Given the description of an element on the screen output the (x, y) to click on. 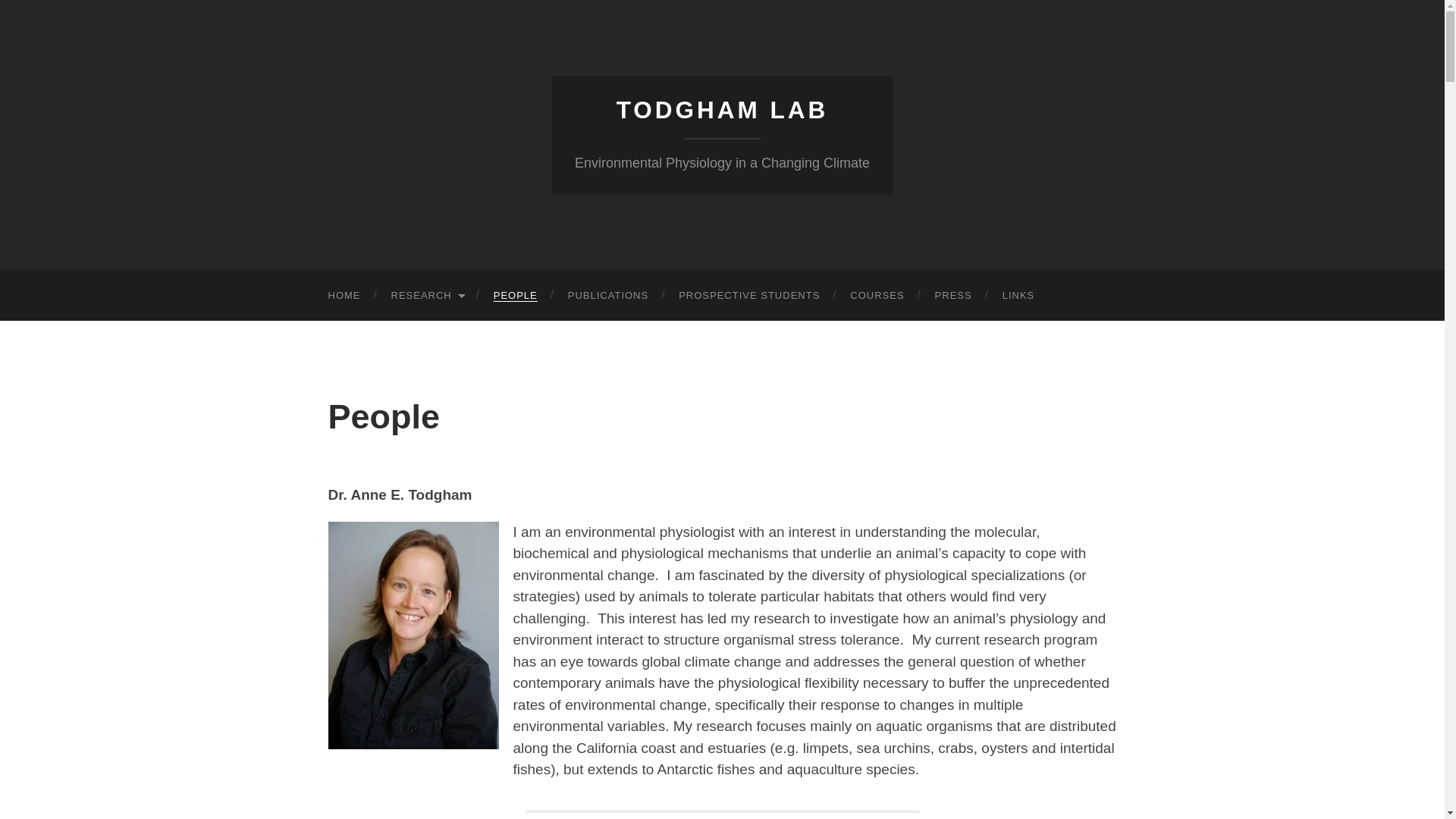
COURSES (876, 295)
PRESS (953, 295)
PEOPLE (516, 295)
PUBLICATIONS (608, 295)
Home (344, 295)
RESEARCH (427, 295)
TODGHAM LAB (721, 109)
PROSPECTIVE STUDENTS (748, 295)
HOME (344, 295)
LINKS (1018, 295)
